Given the description of an element on the screen output the (x, y) to click on. 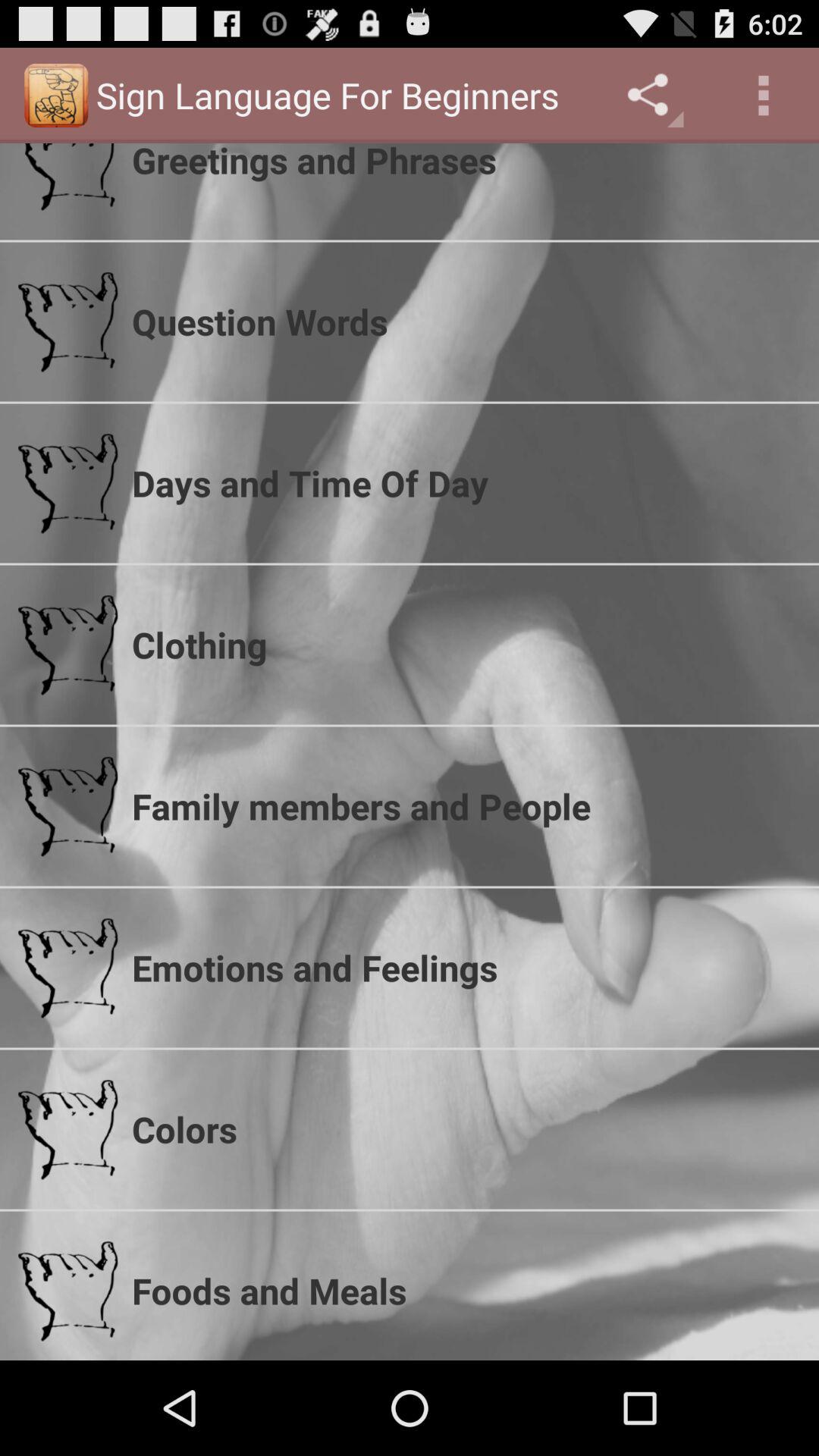
turn off icon below family members and icon (465, 967)
